Given the description of an element on the screen output the (x, y) to click on. 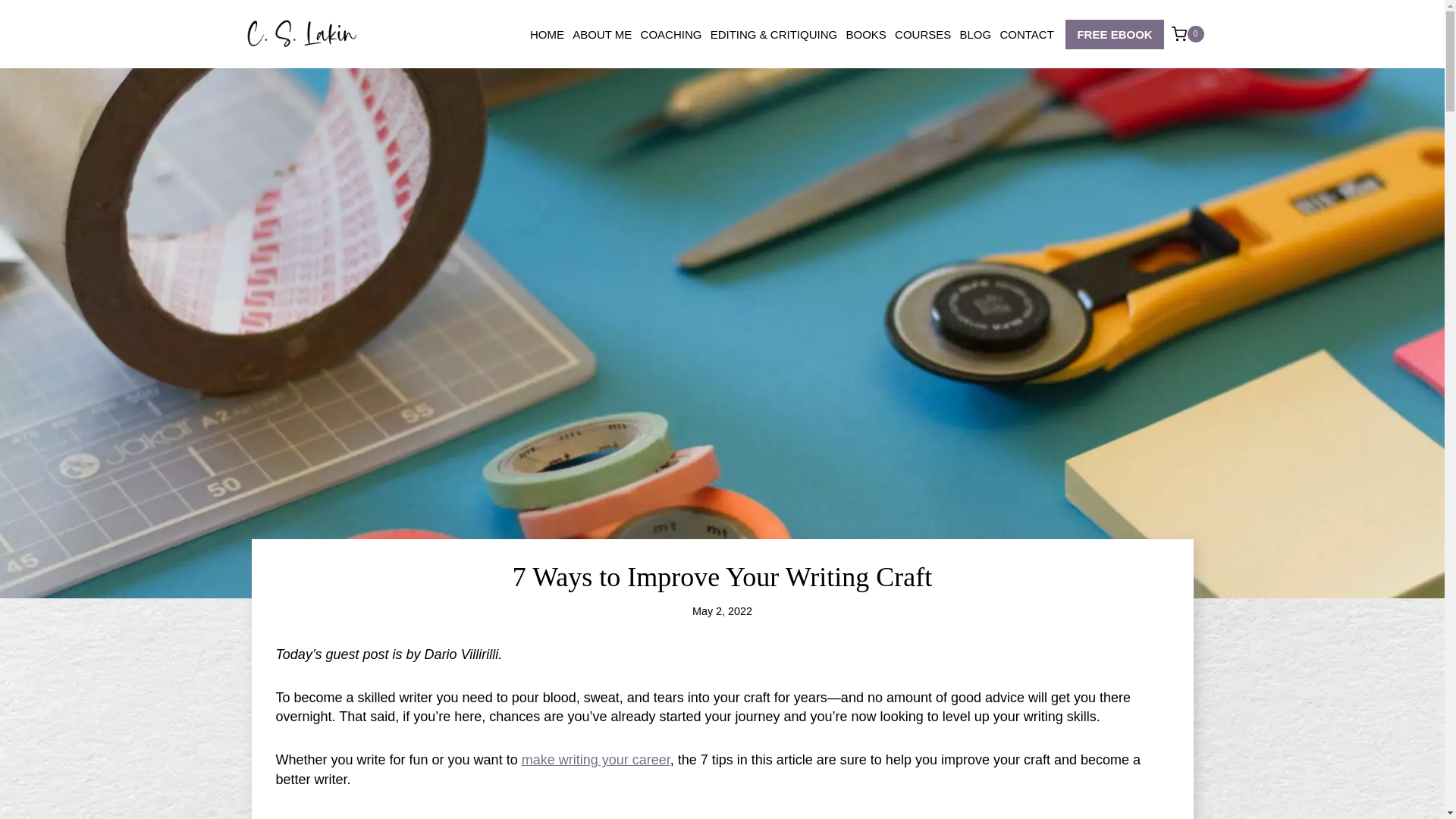
CONTACT (1026, 33)
BLOG (975, 33)
COACHING (671, 33)
ABOUT ME (602, 33)
make writing your career (595, 759)
0 (1188, 33)
FREE EBOOK (1114, 34)
BOOKS (866, 33)
HOME (546, 33)
COURSES (922, 33)
